Given the description of an element on the screen output the (x, y) to click on. 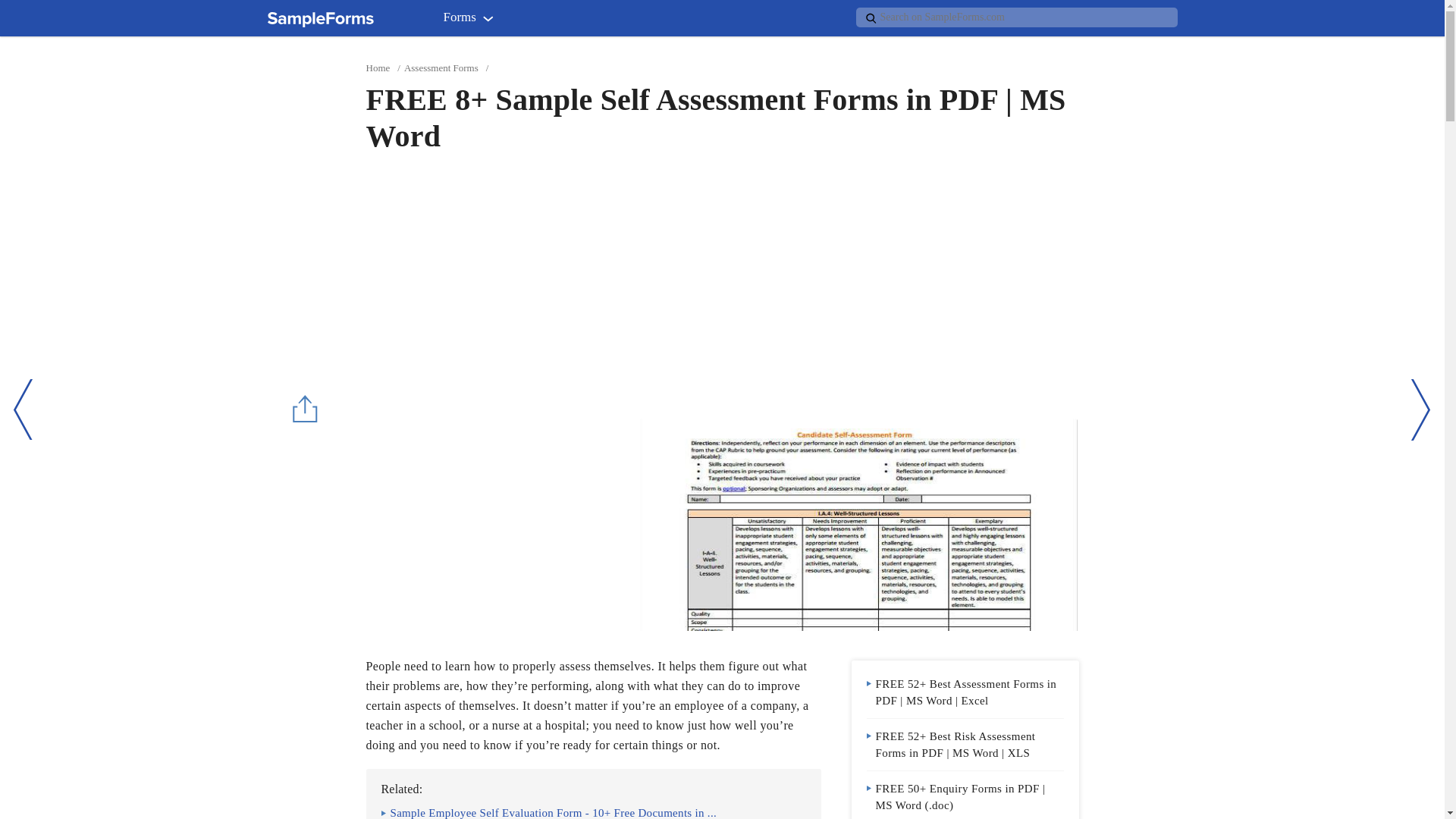
self assessment form samples (858, 524)
Advertisement (492, 524)
Forms (471, 20)
Home (377, 68)
